Given the description of an element on the screen output the (x, y) to click on. 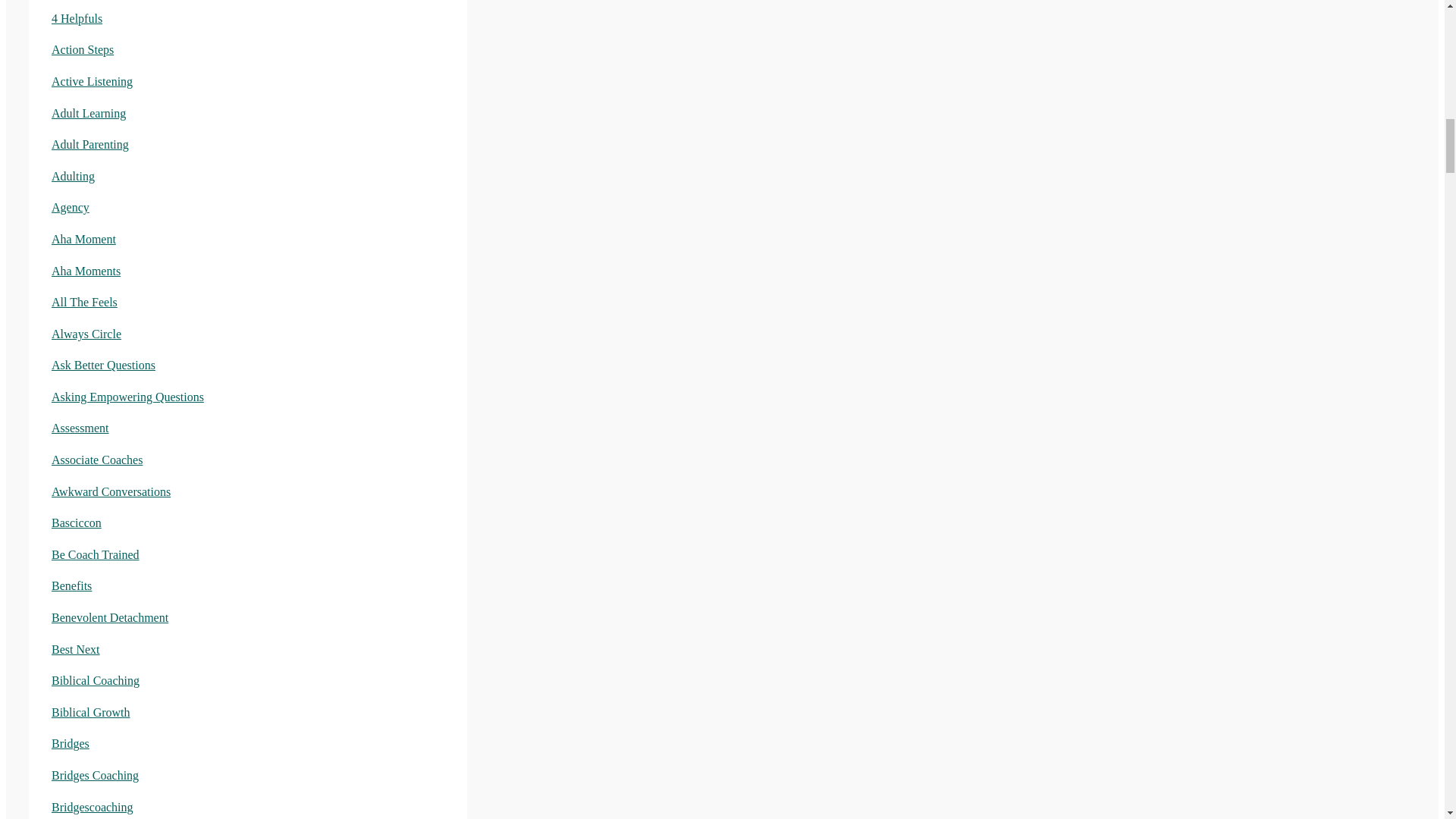
4 Helpfuls (75, 18)
Active Listening (91, 81)
Adult Parenting (89, 144)
Adulting (72, 175)
Action Steps (81, 49)
Adult Learning (87, 113)
